Given the description of an element on the screen output the (x, y) to click on. 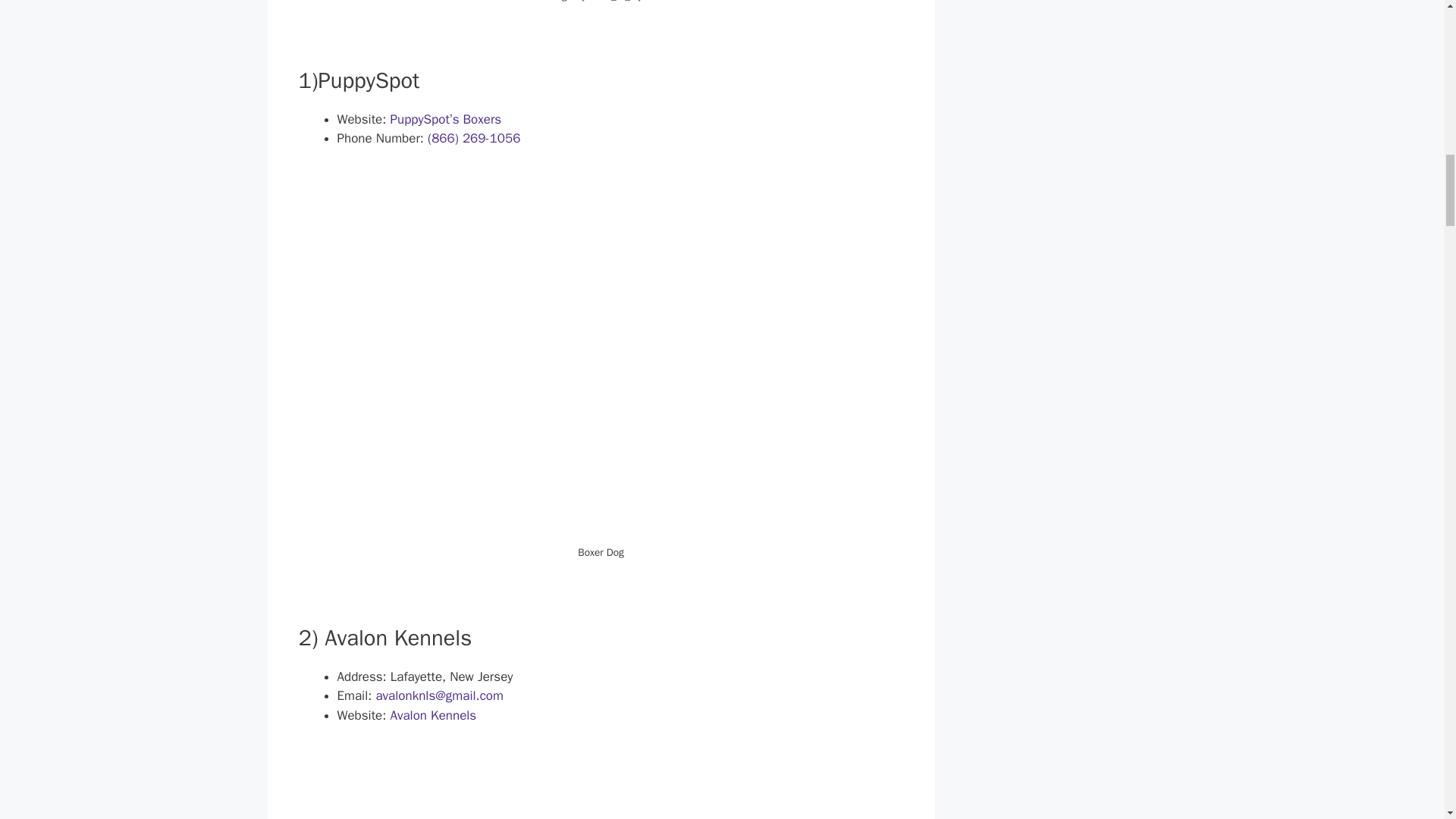
Boxer Dog (600, 785)
Avalon Kennels (433, 715)
